Given the description of an element on the screen output the (x, y) to click on. 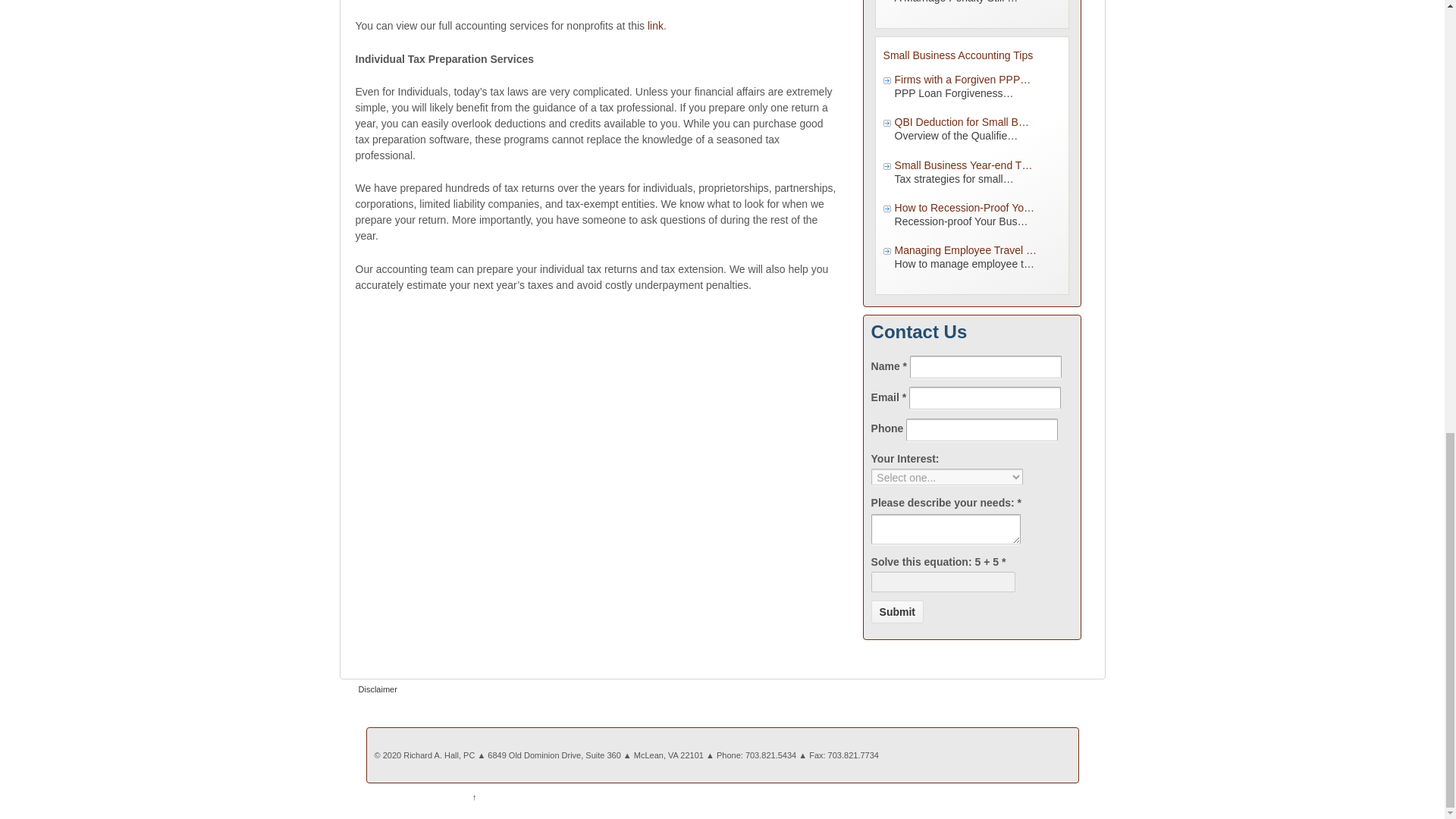
Submit (896, 611)
Full Accounting Services (655, 25)
link (655, 25)
